Given the description of an element on the screen output the (x, y) to click on. 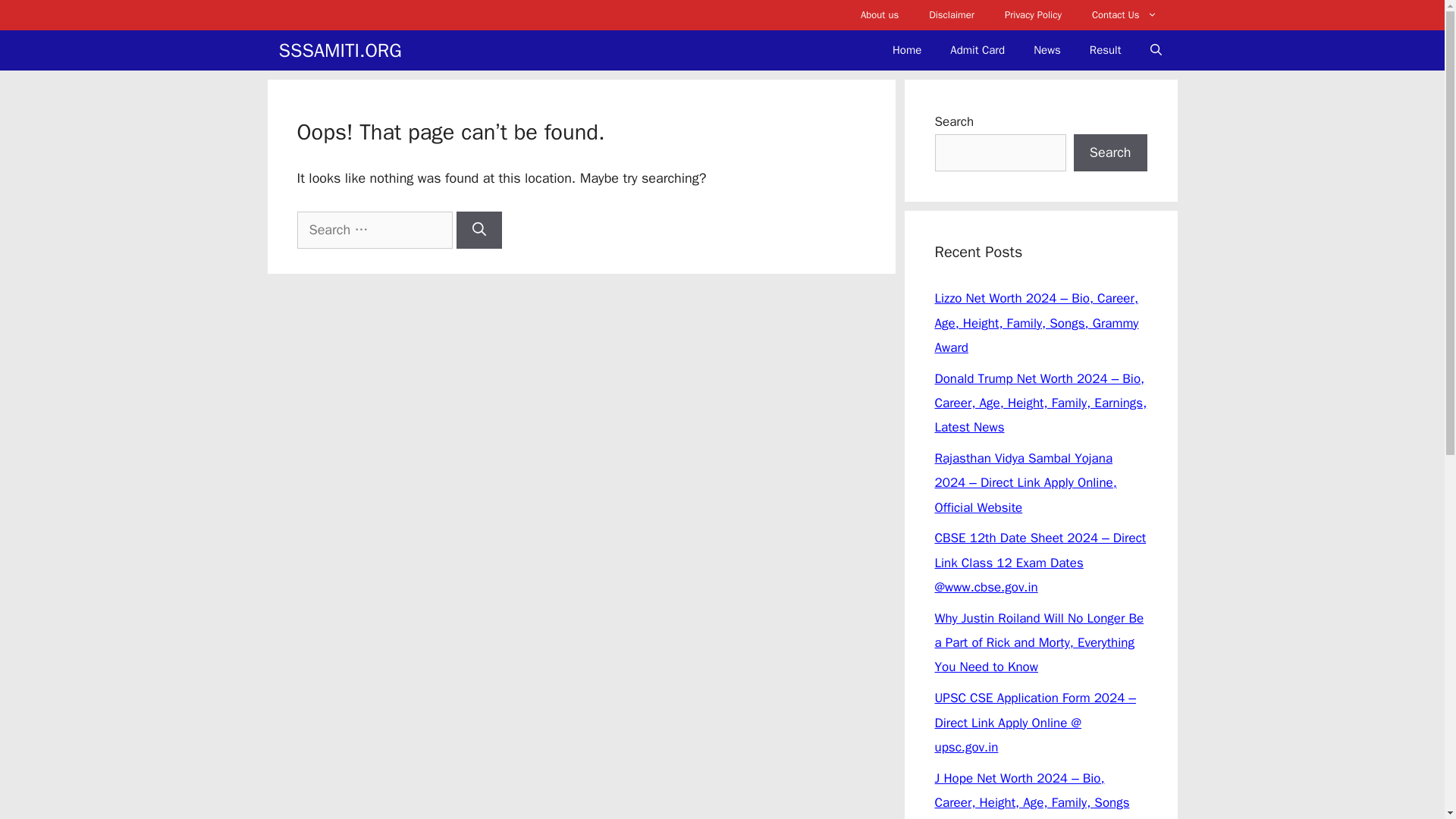
Search for: (374, 229)
SSSAMITI.ORG (340, 49)
News (1047, 49)
Result (1105, 49)
Search (1110, 152)
Home (906, 49)
Disclaimer (952, 15)
Privacy Policy (1033, 15)
Contact Us (1124, 15)
